Given the description of an element on the screen output the (x, y) to click on. 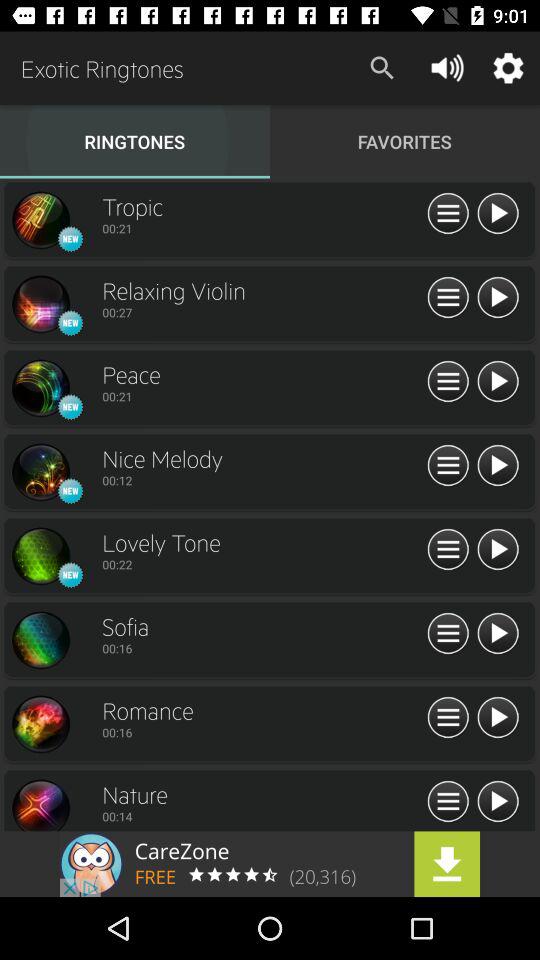
play the track titled tropic (497, 213)
